Given the description of an element on the screen output the (x, y) to click on. 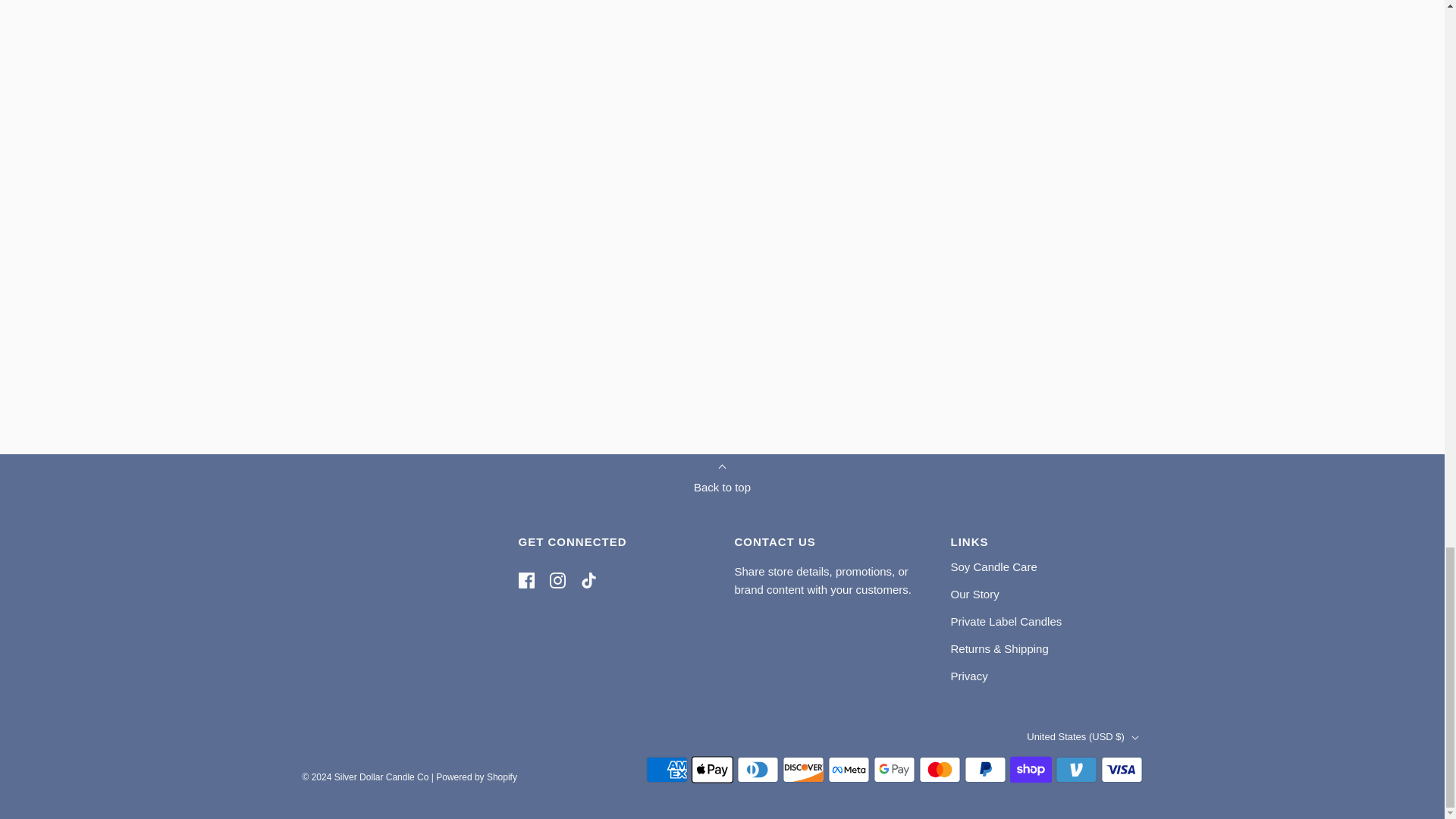
Facebook icon (526, 580)
Instagram icon (556, 580)
Meta Pay (848, 769)
Apple Pay (712, 769)
American Express (666, 769)
Diners Club (757, 769)
Discover (803, 769)
TikTok icon (588, 580)
Google Pay (894, 769)
